Given the description of an element on the screen output the (x, y) to click on. 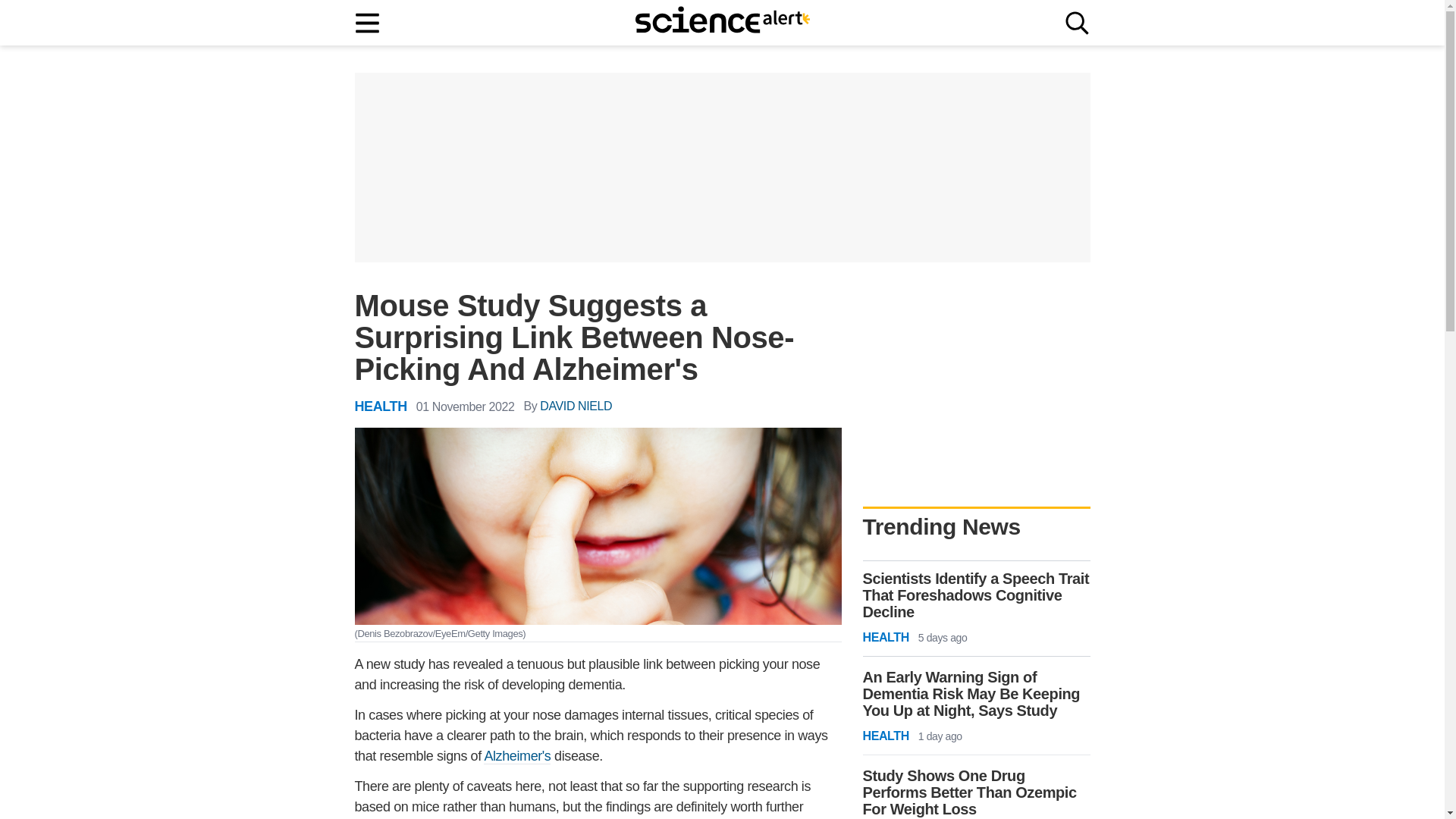
DAVID NIELD (575, 405)
Alzheimer's (516, 756)
HEALTH (381, 406)
